Given the description of an element on the screen output the (x, y) to click on. 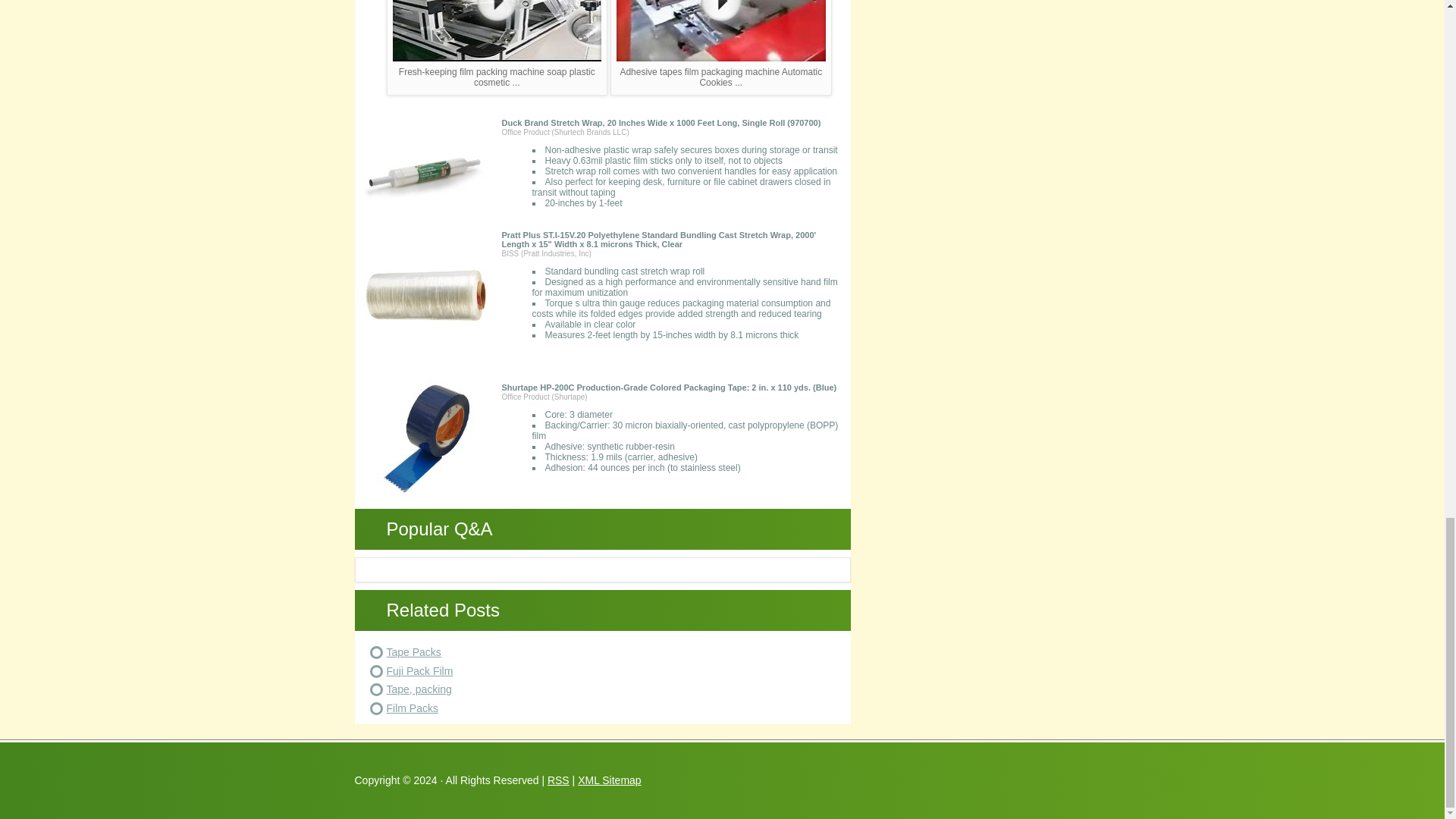
View this video from YouTube (720, 47)
Tape, packing (419, 689)
RSS (558, 779)
View this video from YouTube (497, 47)
Film Packs (412, 707)
Tape Packs (414, 652)
Fuji Pack Film (419, 671)
XML Sitemap (610, 779)
